Given the description of an element on the screen output the (x, y) to click on. 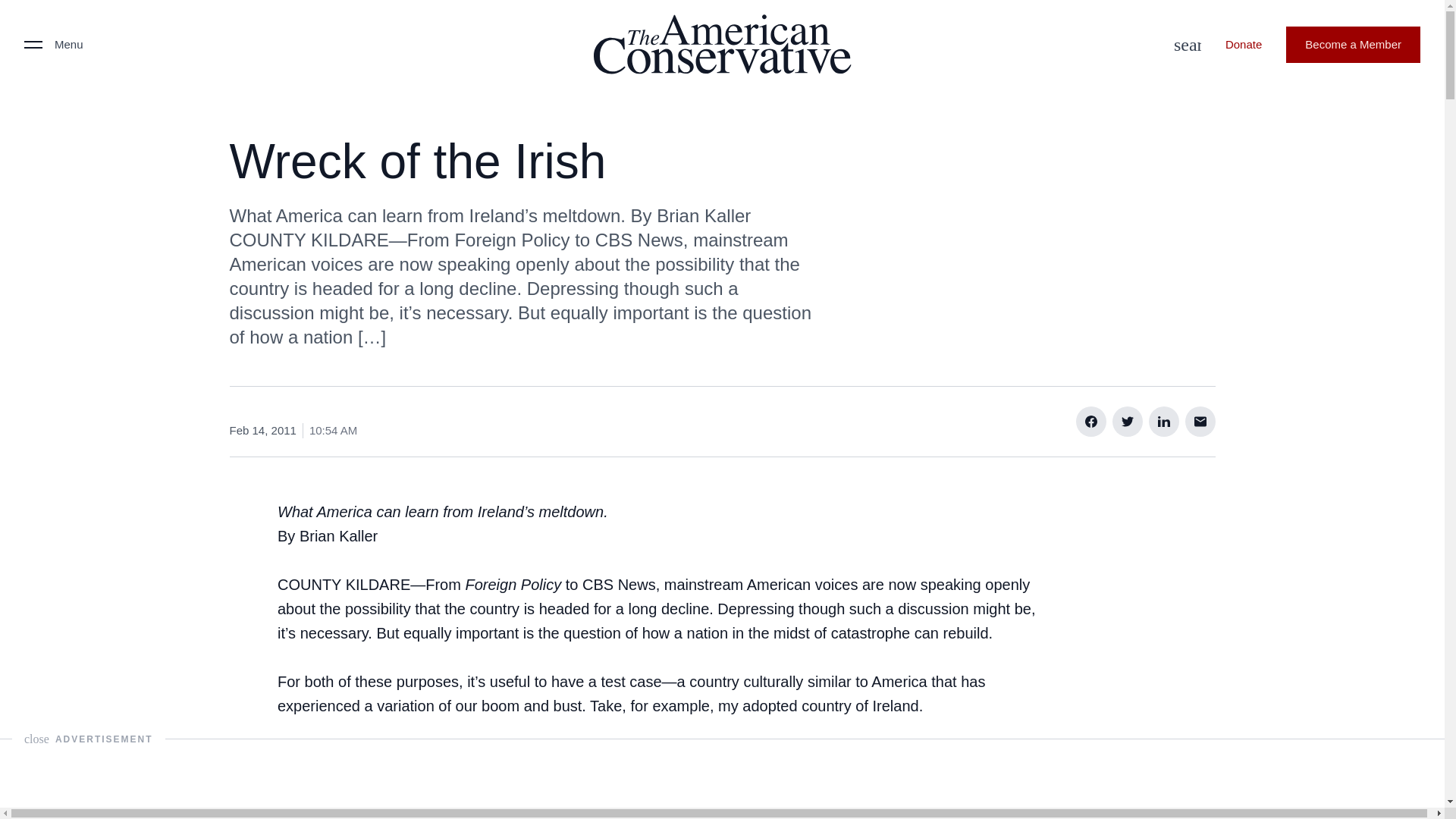
Become a Member (1353, 44)
3rd party ad content (721, 773)
Menu (53, 44)
Donate (1243, 44)
search (1182, 44)
